Given the description of an element on the screen output the (x, y) to click on. 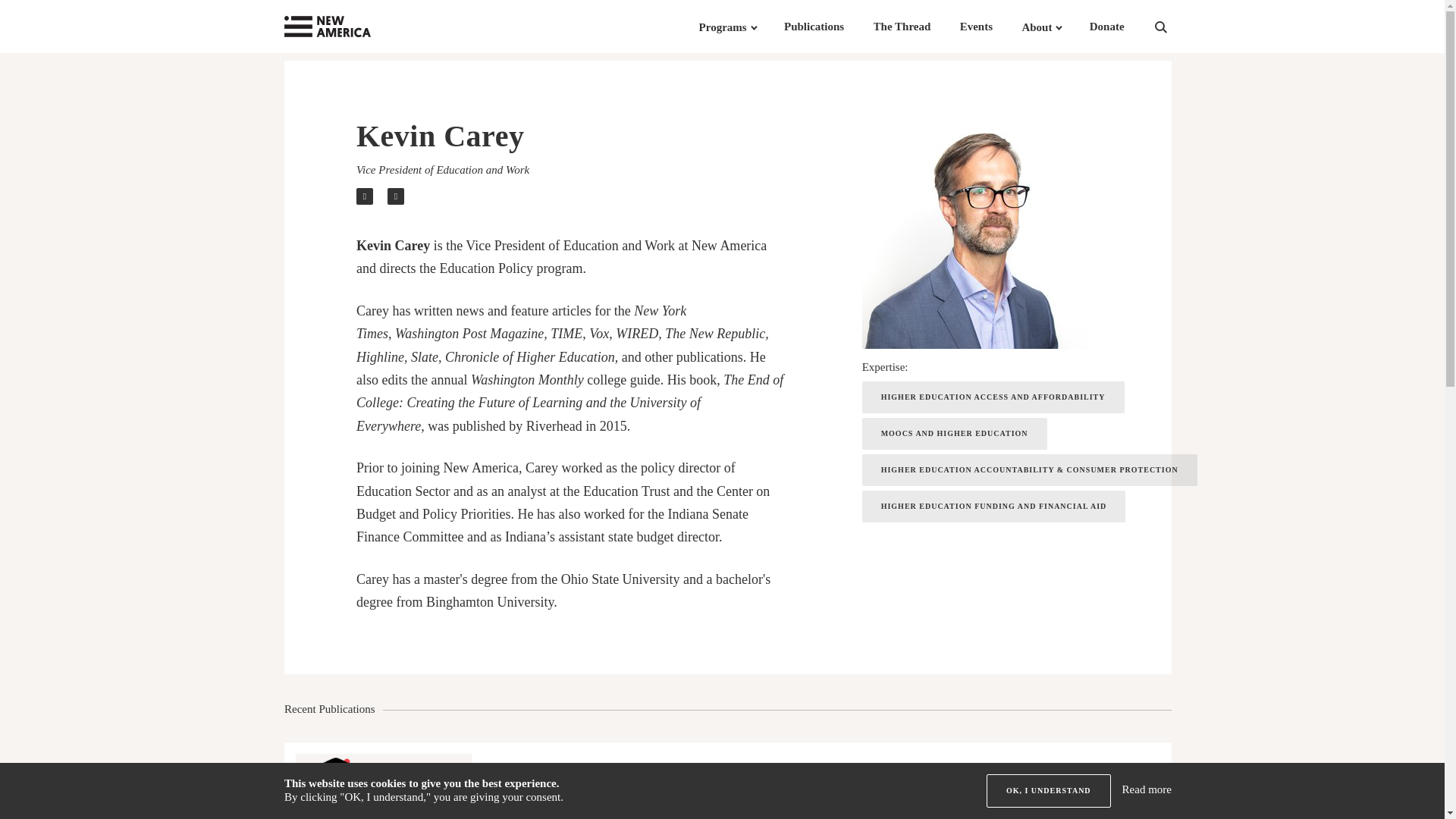
Programs (722, 26)
Search (1180, 27)
New America (357, 26)
The Thread (902, 26)
Publications (814, 26)
Search (1180, 27)
Search (1180, 27)
